Given the description of an element on the screen output the (x, y) to click on. 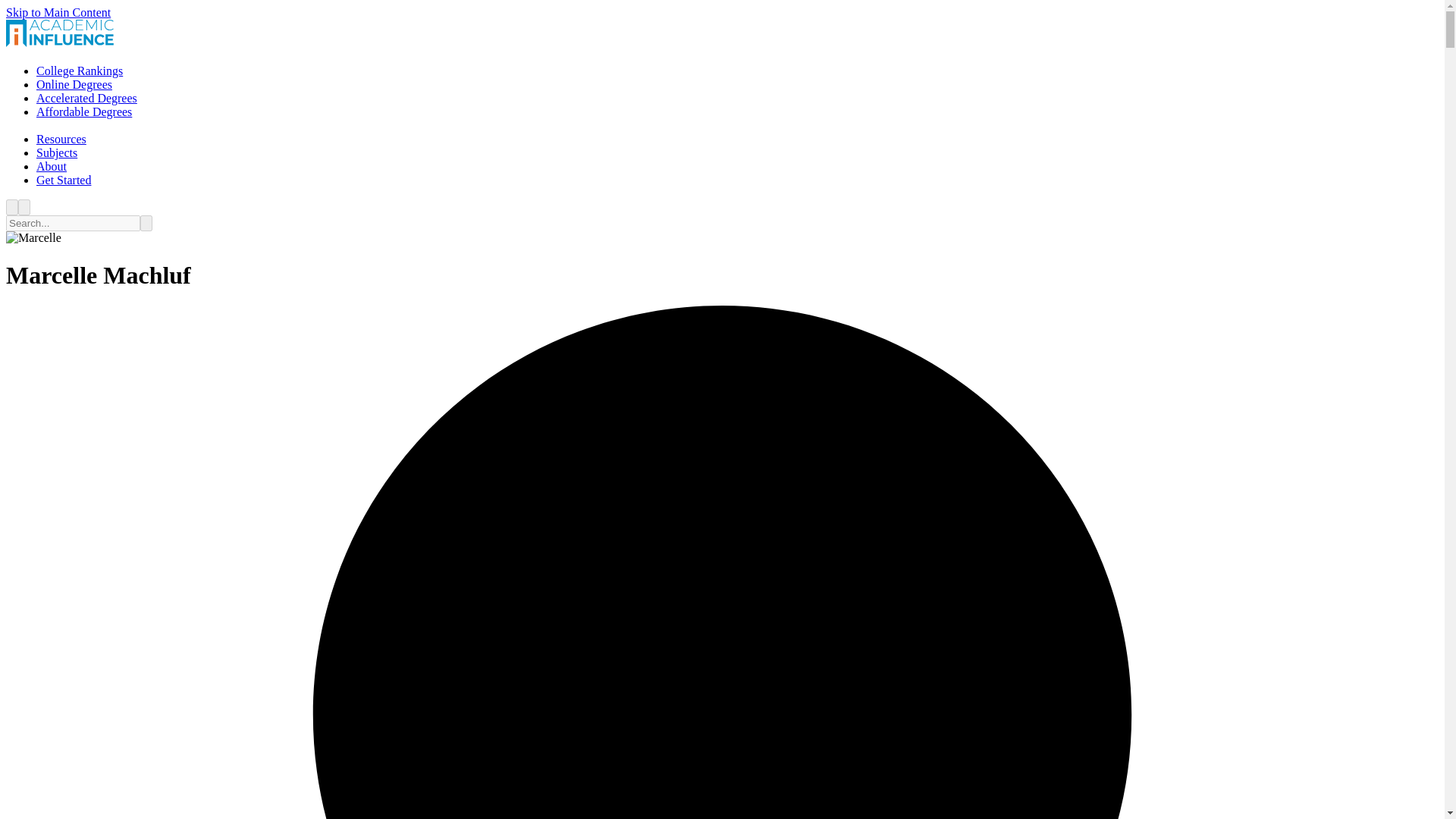
Online Degrees (74, 83)
Subjects (56, 152)
College Rankings (79, 70)
Resources (60, 138)
Skip to Main Content (57, 11)
Affordable Degrees (84, 111)
Accelerated Degrees (86, 97)
About (51, 165)
Get Started (63, 179)
